Given the description of an element on the screen output the (x, y) to click on. 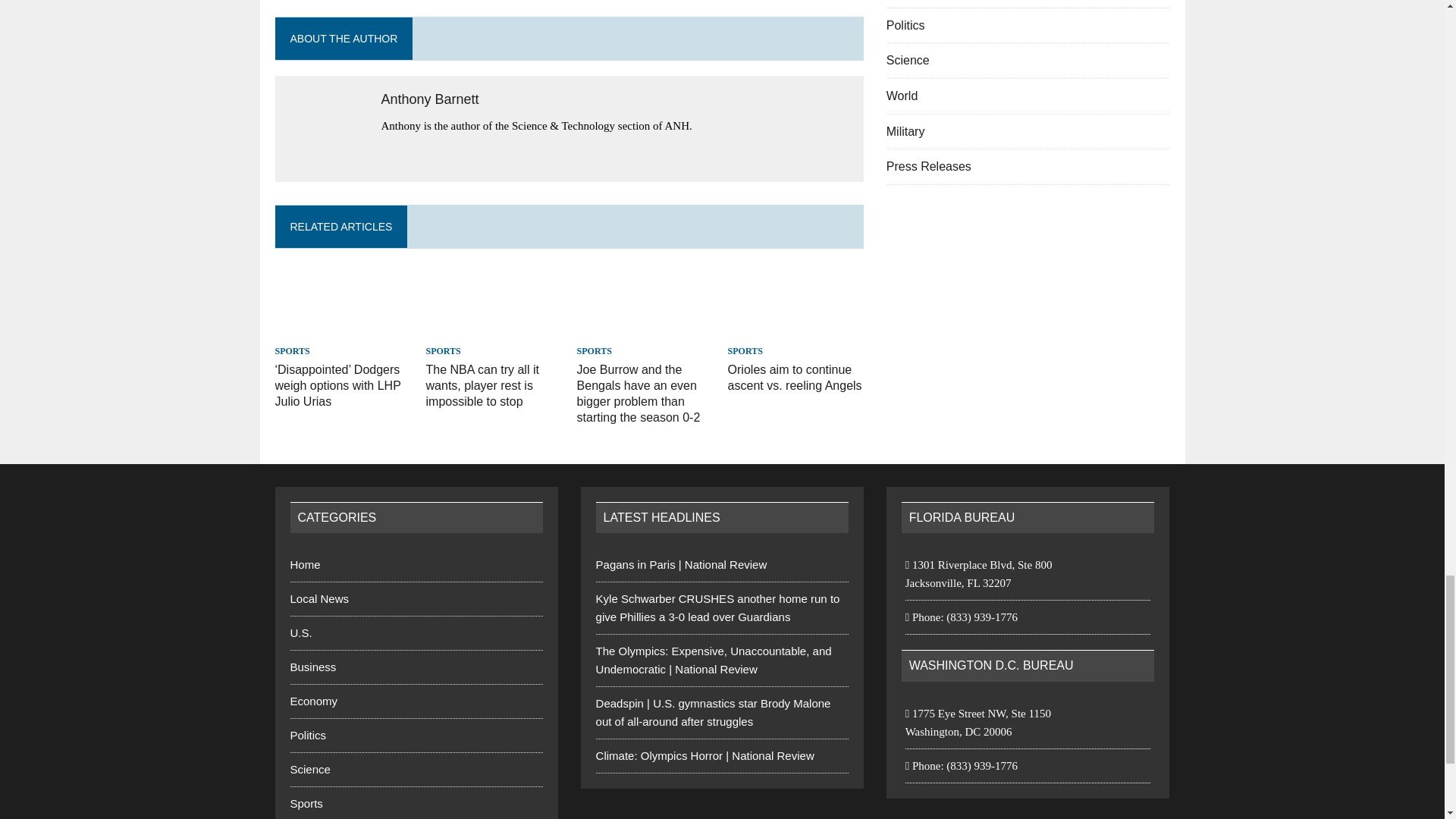
Orioles aim to continue ascent vs. reeling Angels (794, 377)
Orioles aim to continue ascent vs. reeling Angels (796, 330)
